Given the description of an element on the screen output the (x, y) to click on. 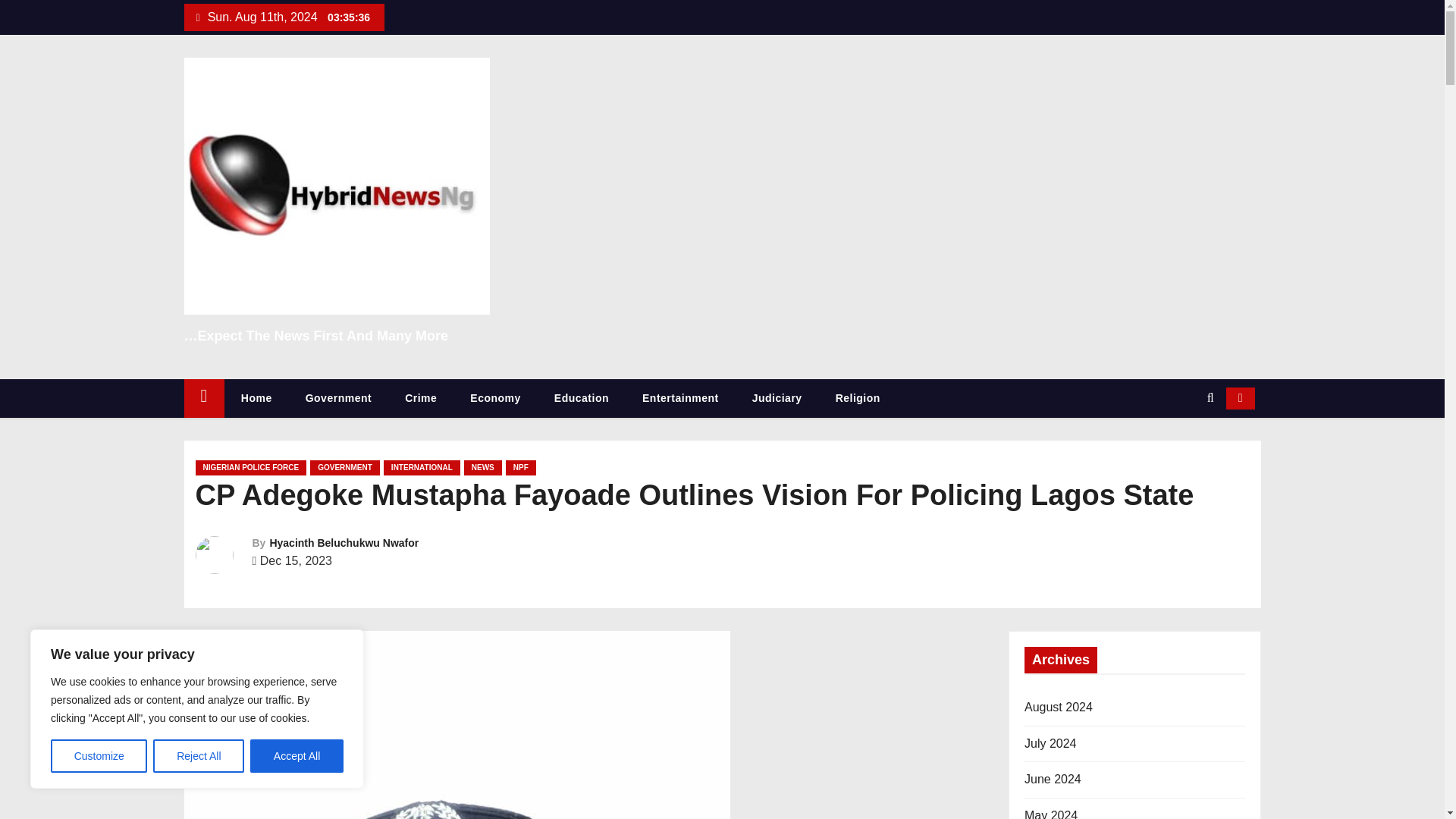
Religion (857, 398)
Home (256, 398)
Economy (494, 398)
NPF (520, 467)
Entertainment (680, 398)
Entertainment (680, 398)
Judiciary (776, 398)
Religion (857, 398)
INTERNATIONAL (422, 467)
NIGERIAN POLICE FORCE (251, 467)
